Given the description of an element on the screen output the (x, y) to click on. 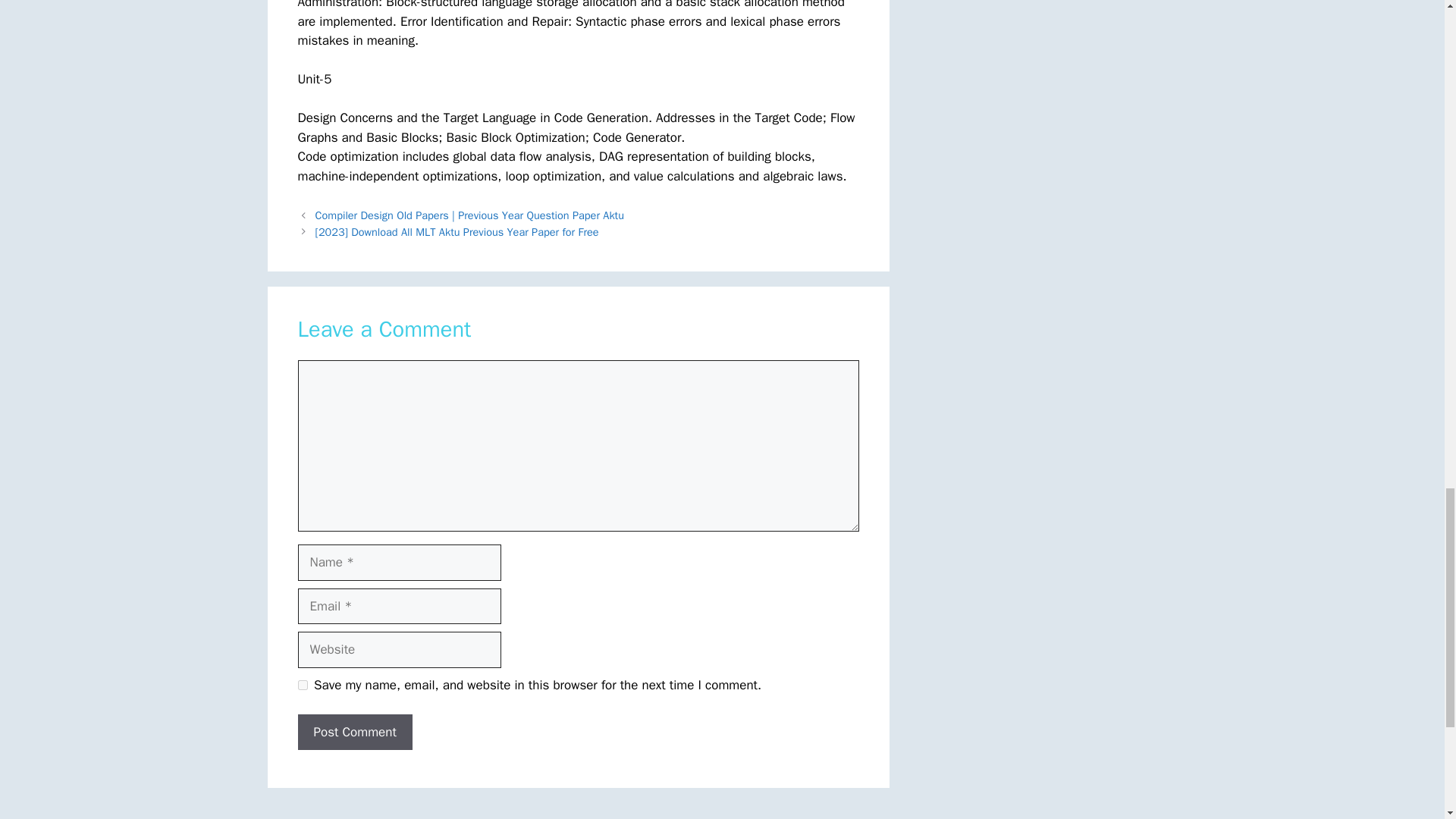
yes (302, 685)
Post Comment (354, 732)
Post Comment (354, 732)
